Given the description of an element on the screen output the (x, y) to click on. 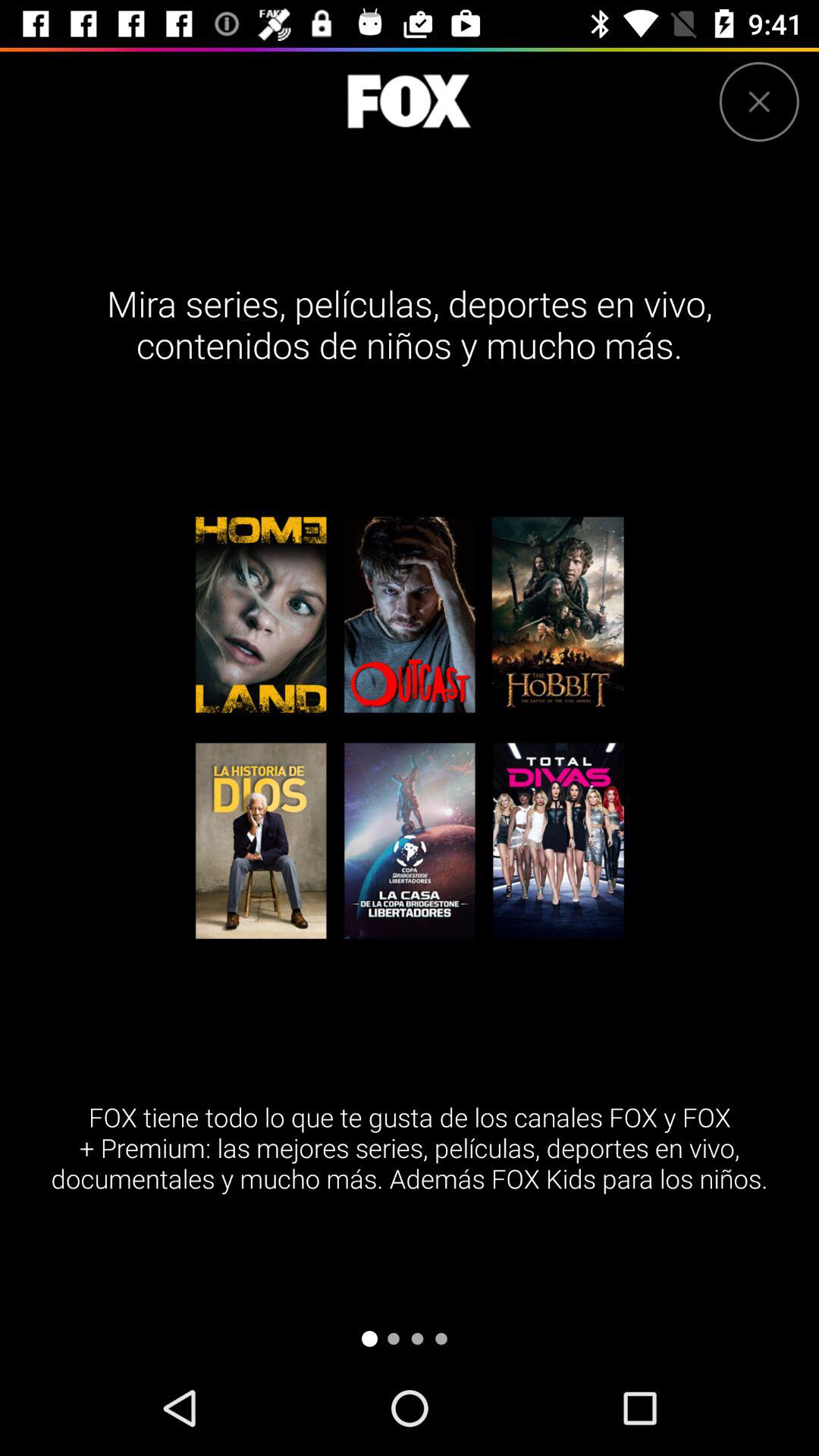
close the page (759, 101)
